Given the description of an element on the screen output the (x, y) to click on. 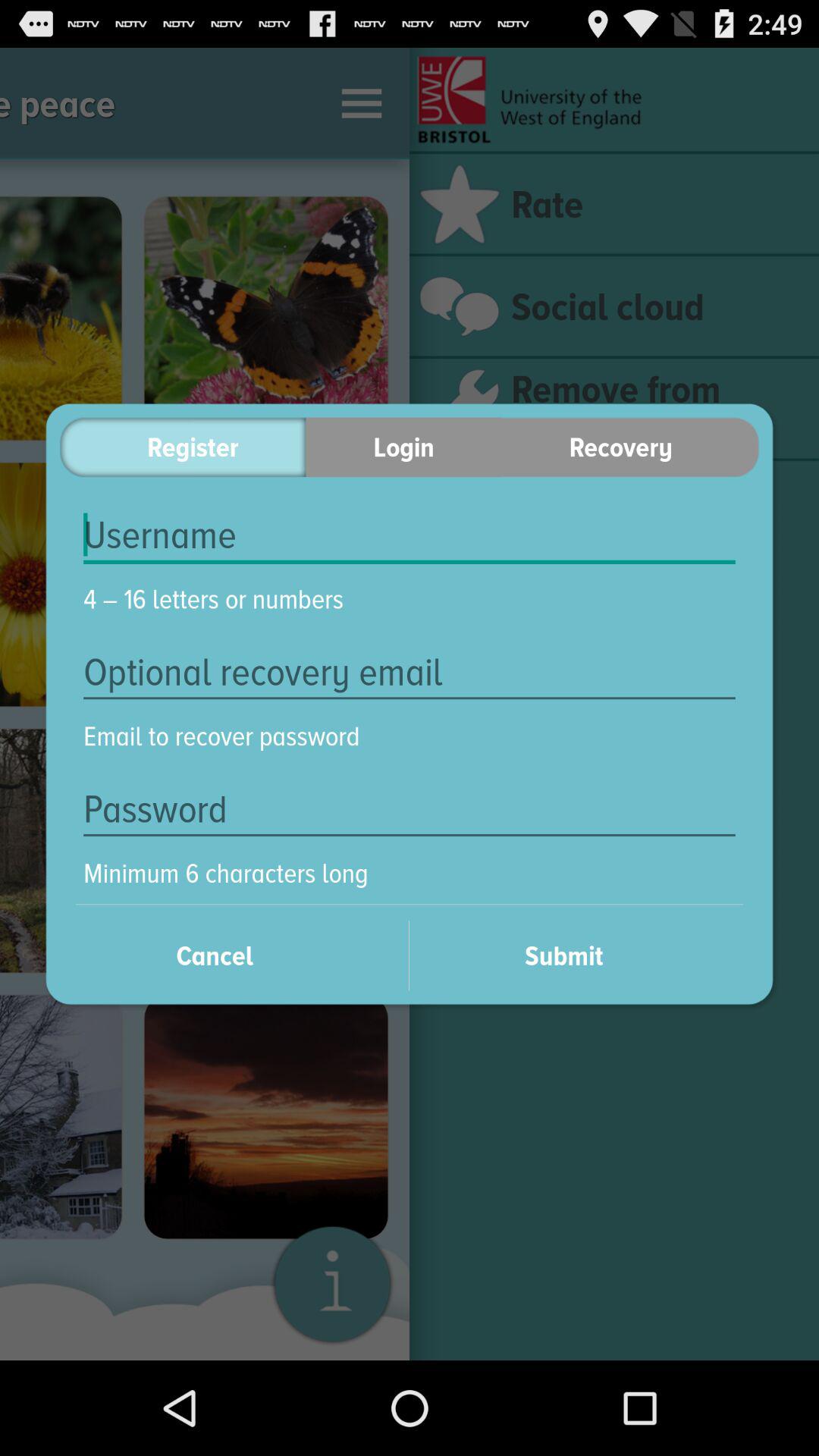
enter username (409, 535)
